Given the description of an element on the screen output the (x, y) to click on. 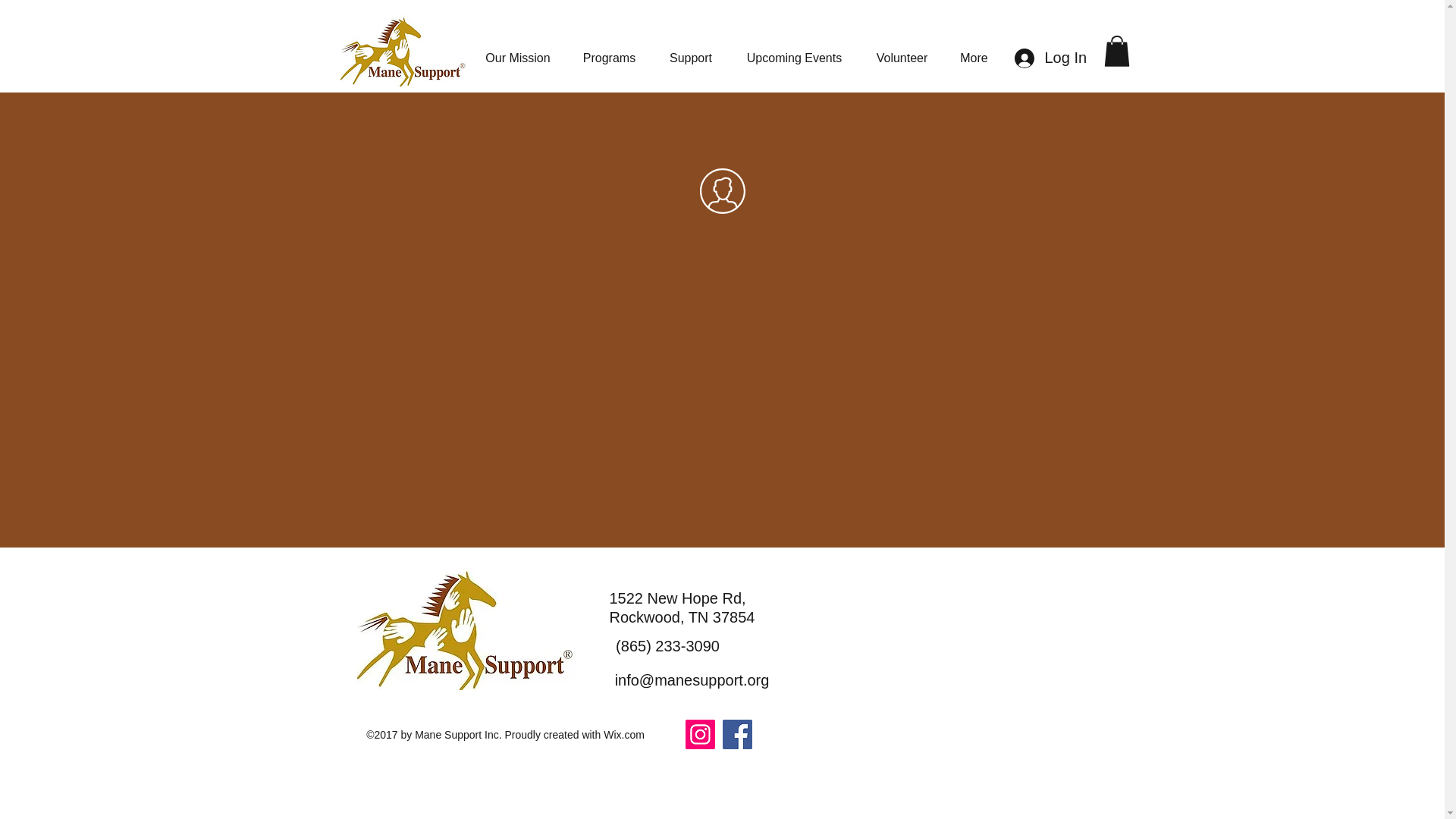
Log In (1049, 58)
Upcoming Events (794, 50)
Our Mission (518, 50)
Support (690, 50)
Programs (609, 50)
Volunteer (902, 50)
